Given the description of an element on the screen output the (x, y) to click on. 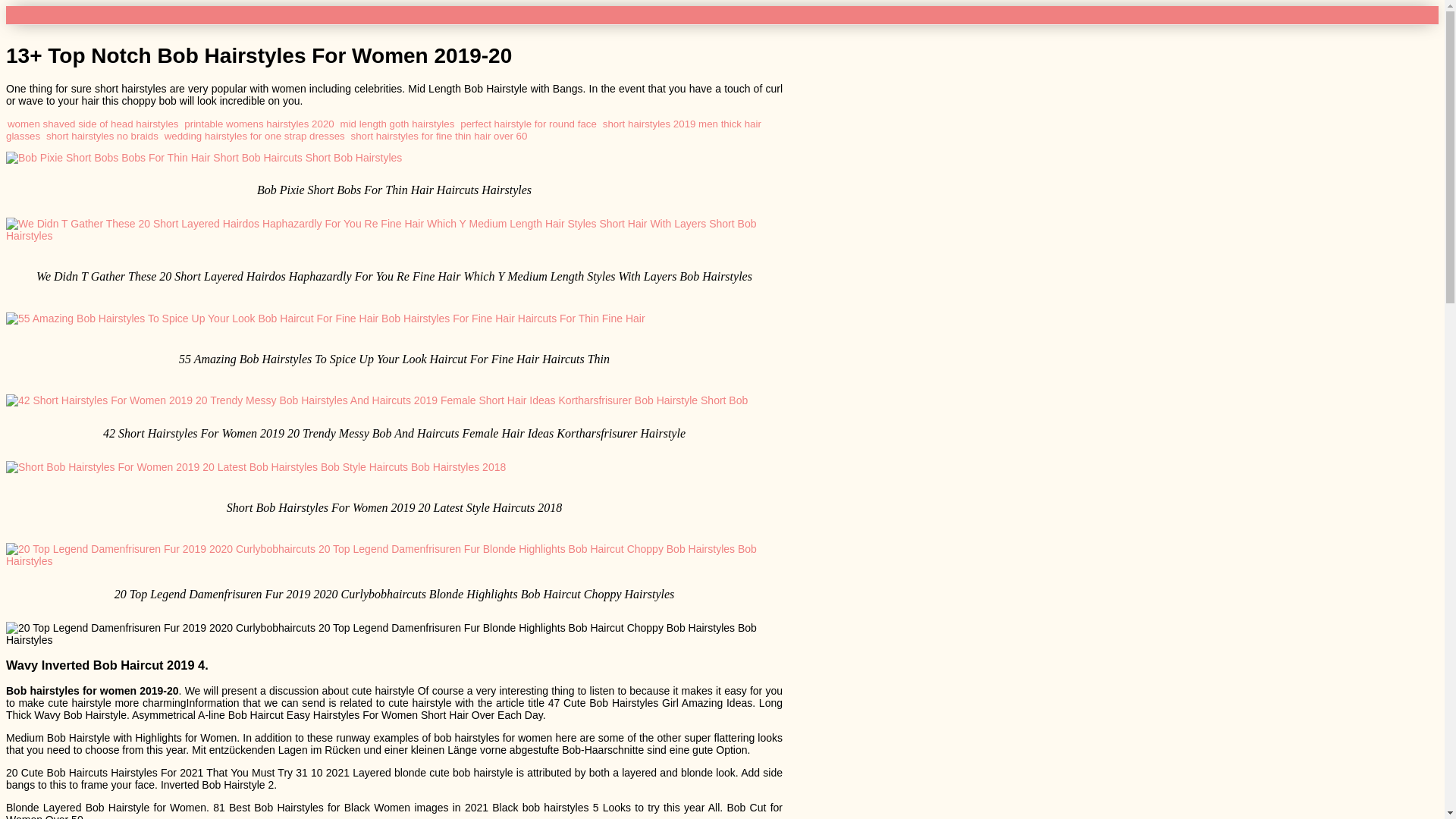
perfect hairstyle for round face (528, 123)
wedding hairstyles for one strap dresses (254, 135)
Princegrocery0 (49, 14)
short hairstyles for fine thin hair over 60 (438, 135)
short hairstyles no braids (102, 135)
women shaved side of head hairstyles (92, 123)
short hairstyles 2019 men thick hair glasses (383, 129)
Princegrocery0 (49, 14)
mid length goth hairstyles (397, 123)
printable womens hairstyles 2020 (258, 123)
